Given the description of an element on the screen output the (x, y) to click on. 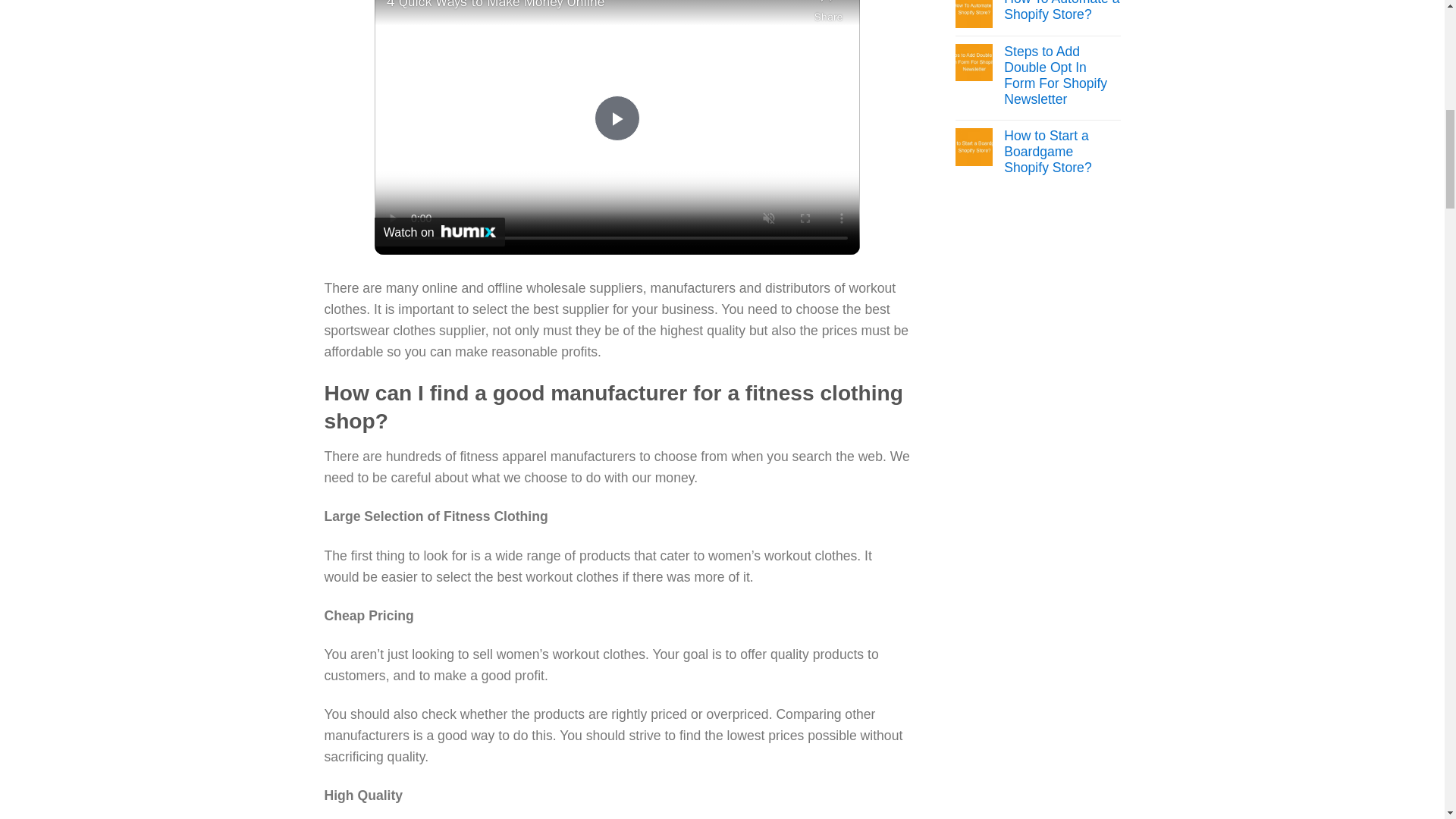
Play Video (617, 117)
4 Quick Ways to Make Money Online (596, 6)
Play Video (617, 117)
Share (828, 12)
share (828, 12)
Watch on (439, 231)
